Given the description of an element on the screen output the (x, y) to click on. 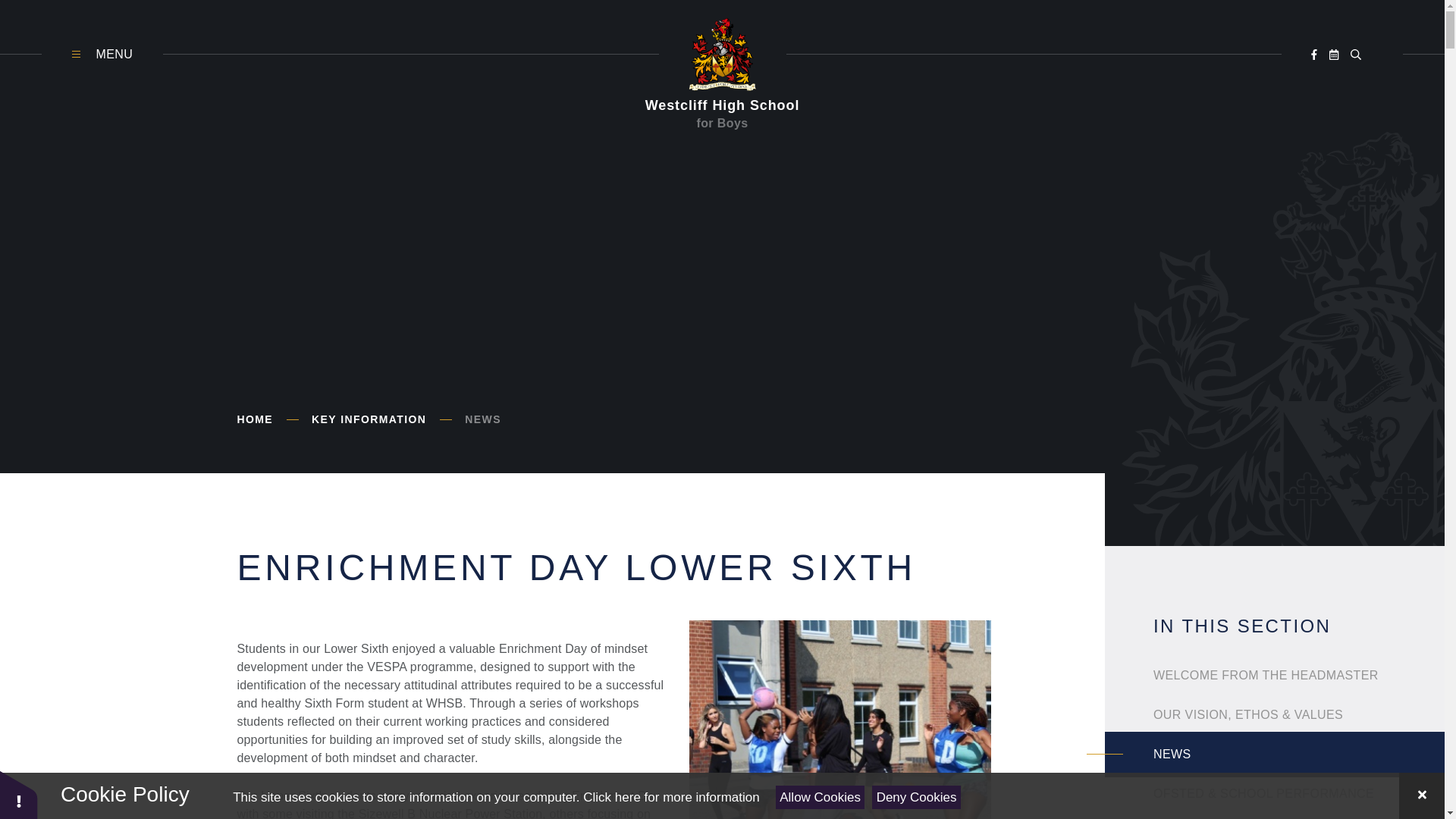
MENU (101, 54)
